Given the description of an element on the screen output the (x, y) to click on. 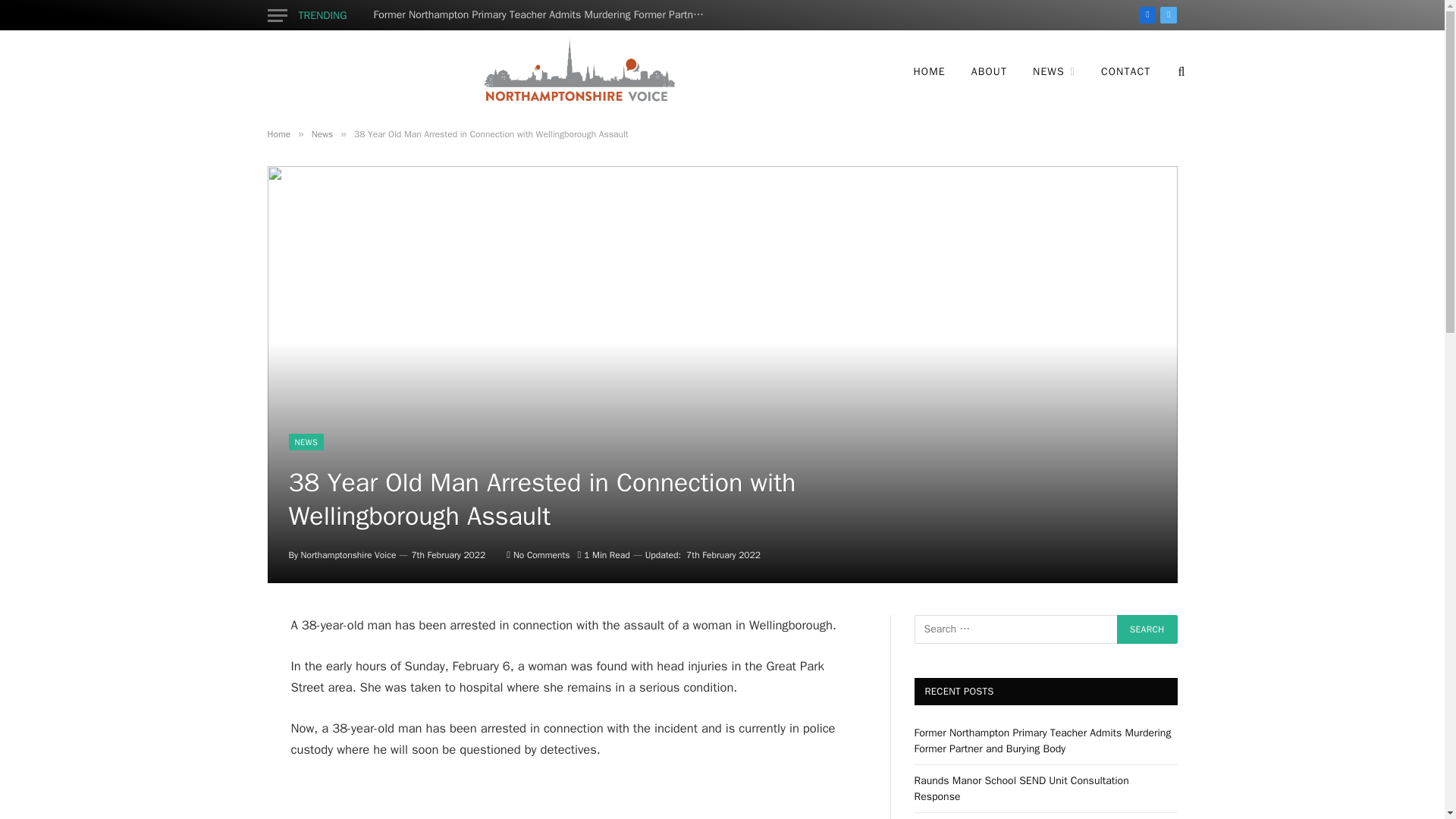
Northamptonshire Voice (577, 71)
Search (1146, 629)
Facebook (1147, 14)
Search (1146, 629)
Twitter (1168, 14)
